Given the description of an element on the screen output the (x, y) to click on. 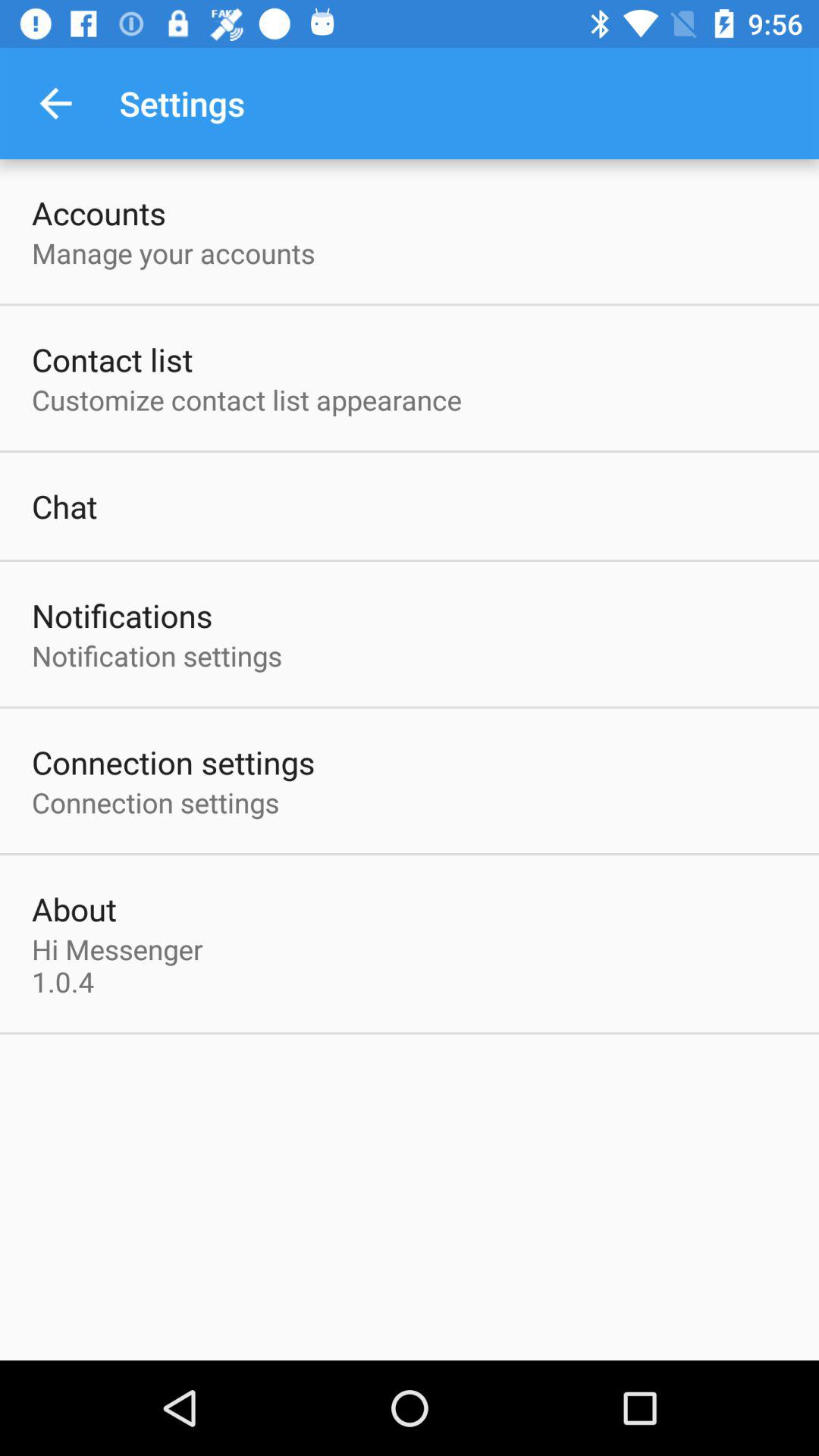
choose icon above contact list (173, 252)
